Given the description of an element on the screen output the (x, y) to click on. 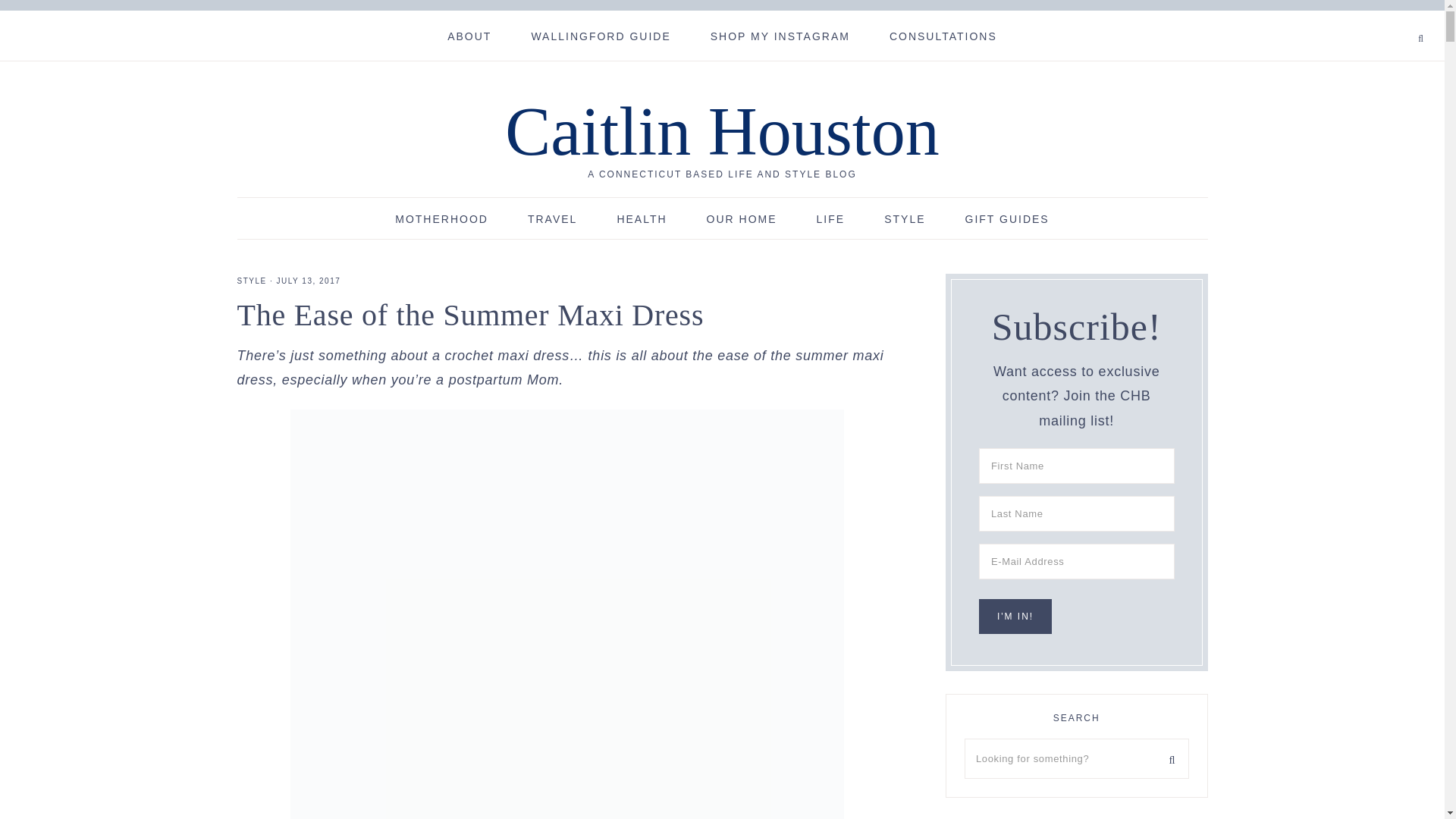
TRAVEL (552, 218)
HEALTH (640, 218)
ABOUT (469, 34)
SHOP MY INSTAGRAM (779, 34)
Pinterest (1388, 19)
GIFT GUIDES (1006, 218)
Instagram (1394, 19)
OUR HOME (741, 218)
STYLE (250, 280)
Facebook (1375, 19)
CONSULTATIONS (942, 34)
LinkedIn (1400, 19)
LIFE (830, 218)
MOTHERHOOD (441, 218)
Twitter (1382, 19)
